Given the description of an element on the screen output the (x, y) to click on. 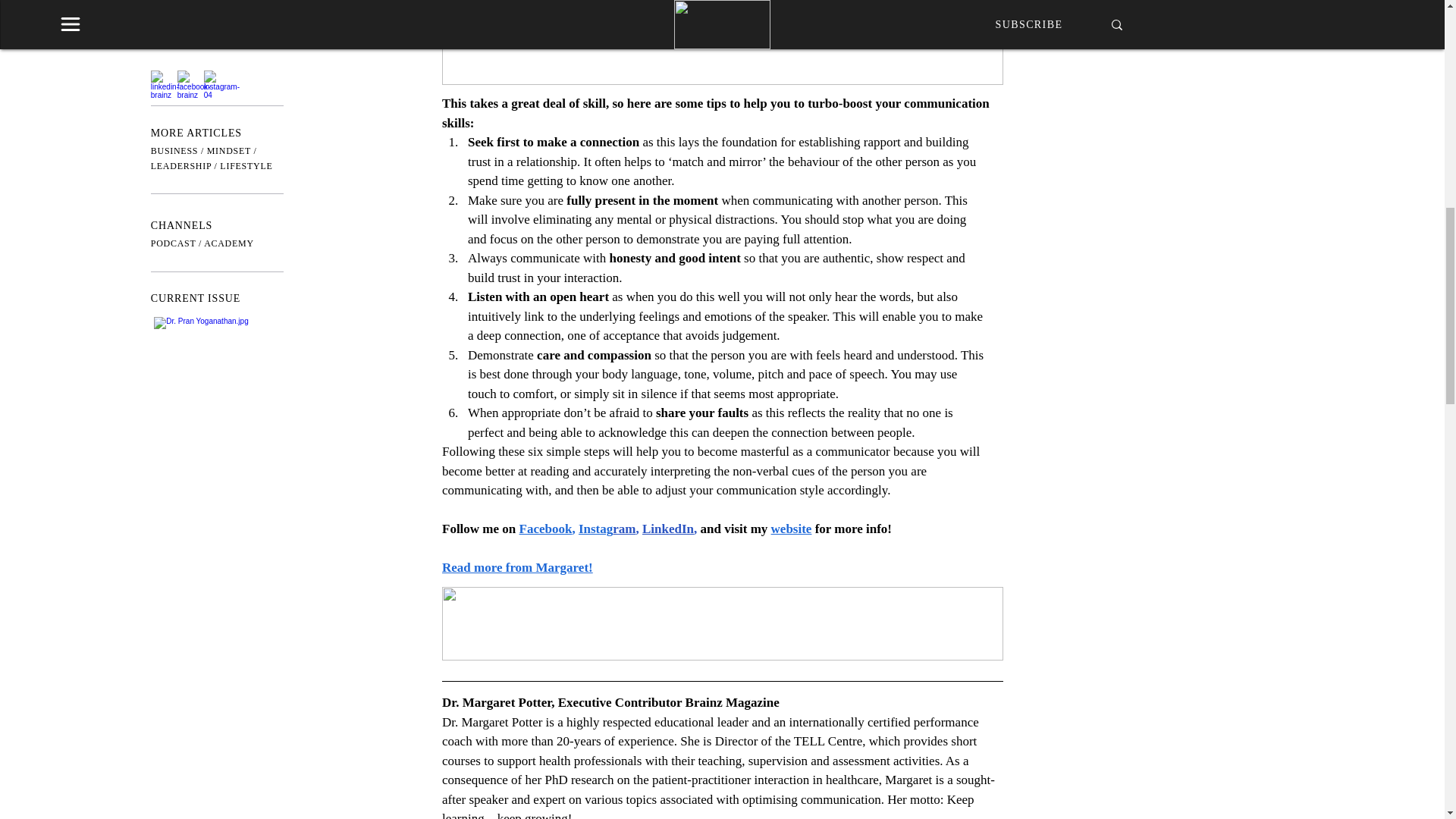
Read more from Margaret! (516, 567)
website (790, 528)
Facebook (545, 528)
Instag (594, 528)
ram (623, 528)
LinkedIn (667, 528)
